Given the description of an element on the screen output the (x, y) to click on. 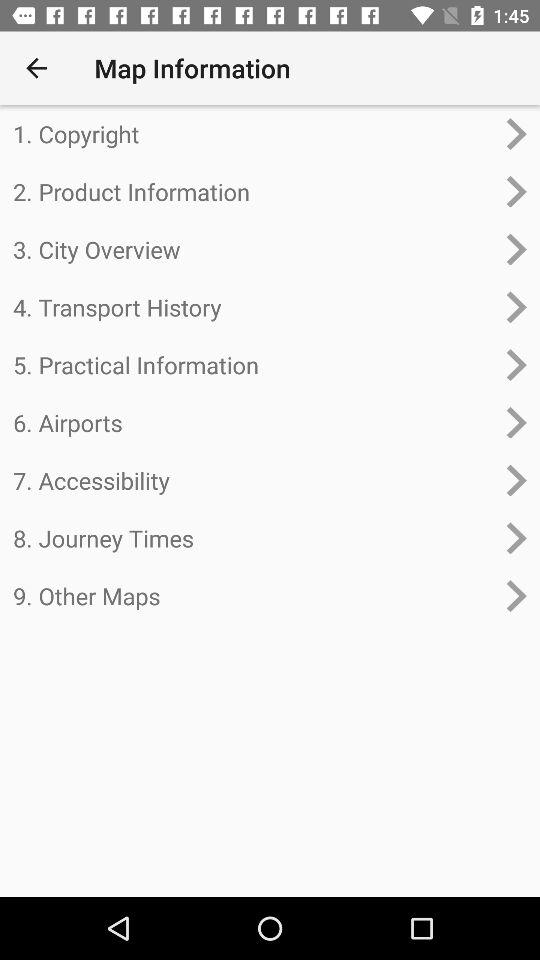
tap the item above the 7. accessibility icon (253, 422)
